Given the description of an element on the screen output the (x, y) to click on. 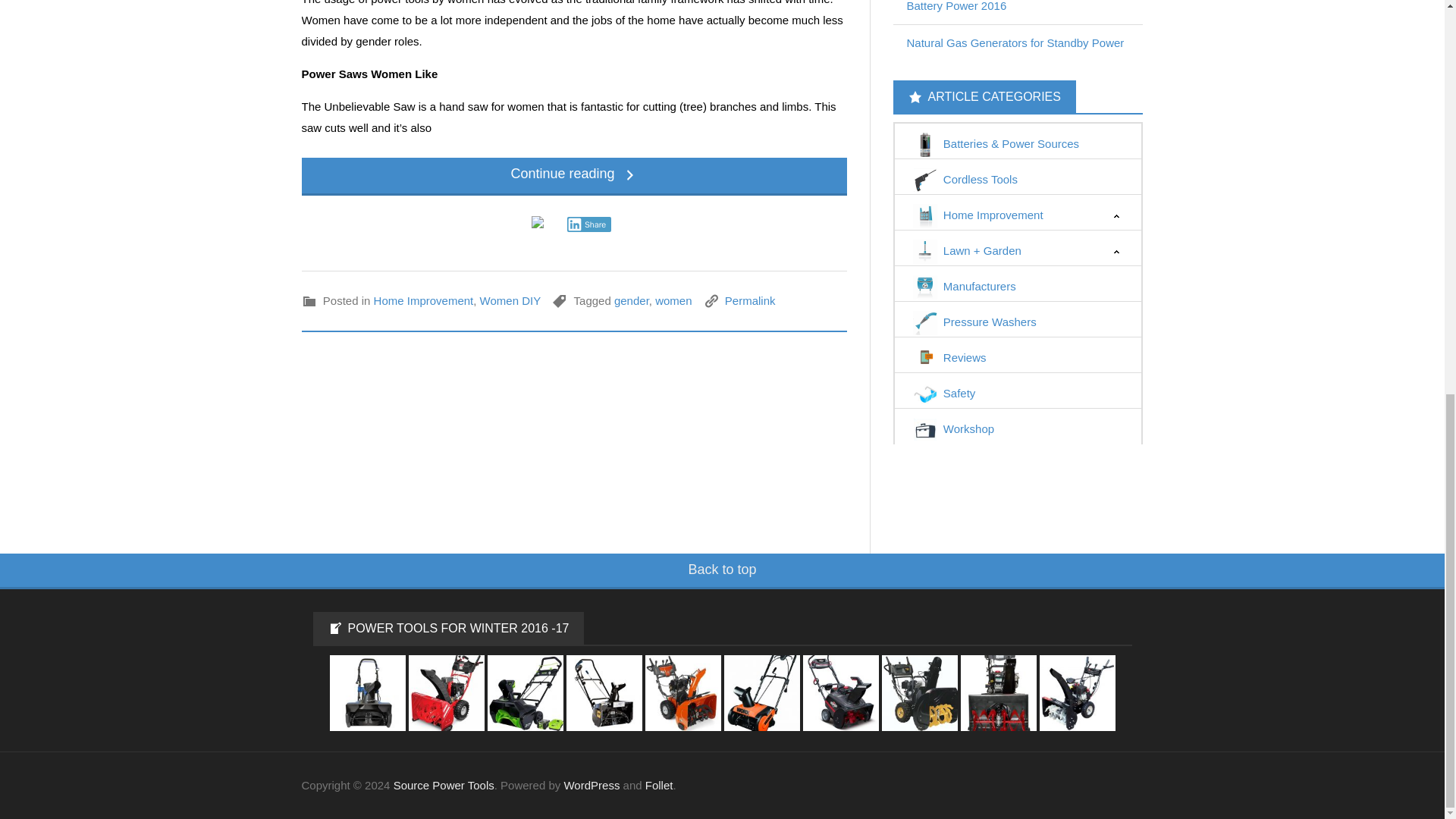
Share (589, 224)
women (673, 300)
Continue reading   (574, 176)
Permalink (750, 300)
Women DIY (510, 300)
WORX WG650 18-Inch 13 Amp Electric Snow Thrower (761, 691)
Snow Joe Ultra SJ625E 21-Inch 15-Amp Electric Snow Thrower (366, 691)
Home Improvement (424, 300)
gender (631, 300)
